Given the description of an element on the screen output the (x, y) to click on. 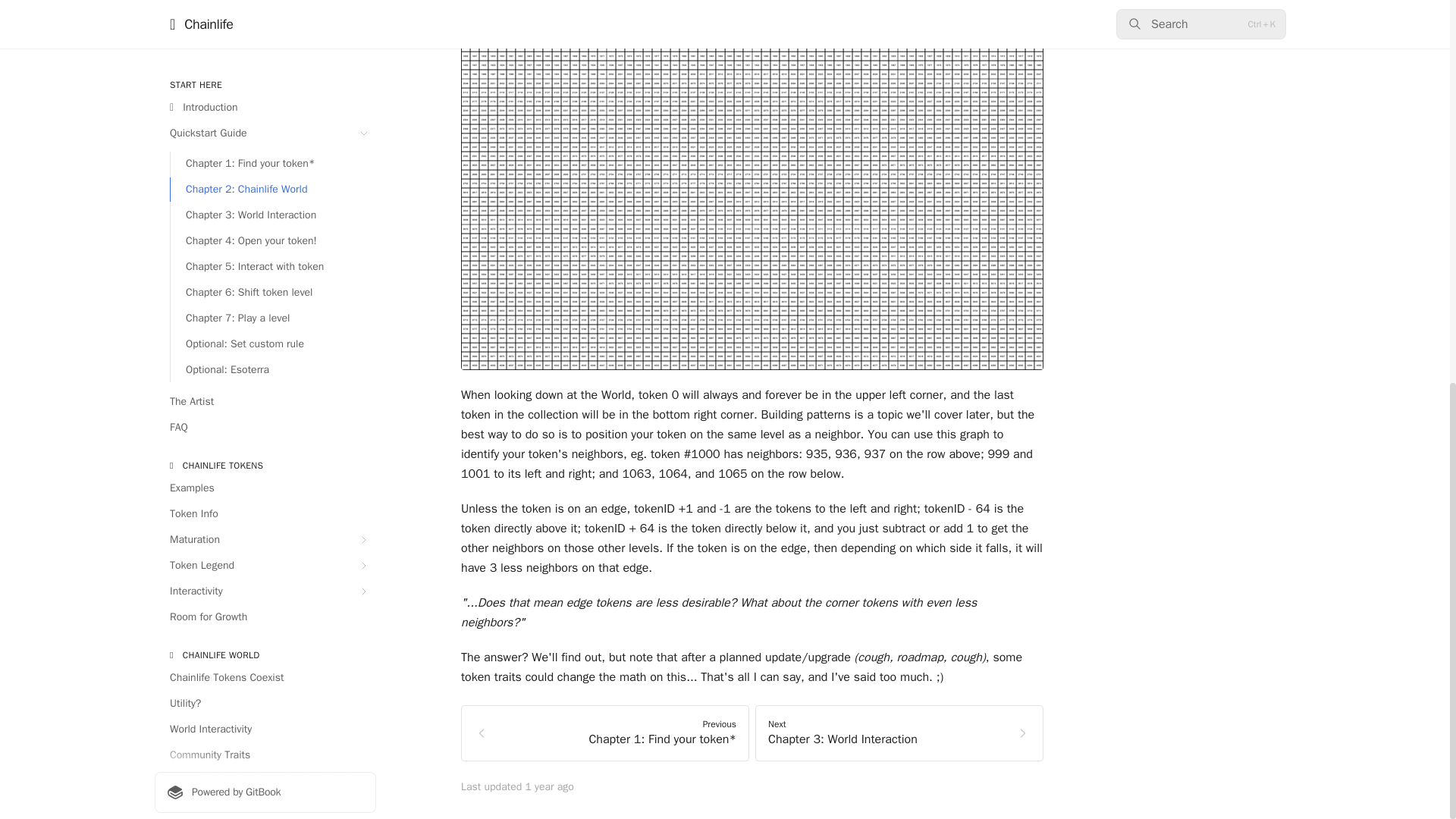
Fighting Climate Change (264, 95)
Community Traits (264, 34)
Token Tech (264, 181)
World Interactivity (264, 10)
ENTIRE SECTION IS WIP (264, 156)
Backend (264, 233)
App Frontend (264, 207)
